Given the description of an element on the screen output the (x, y) to click on. 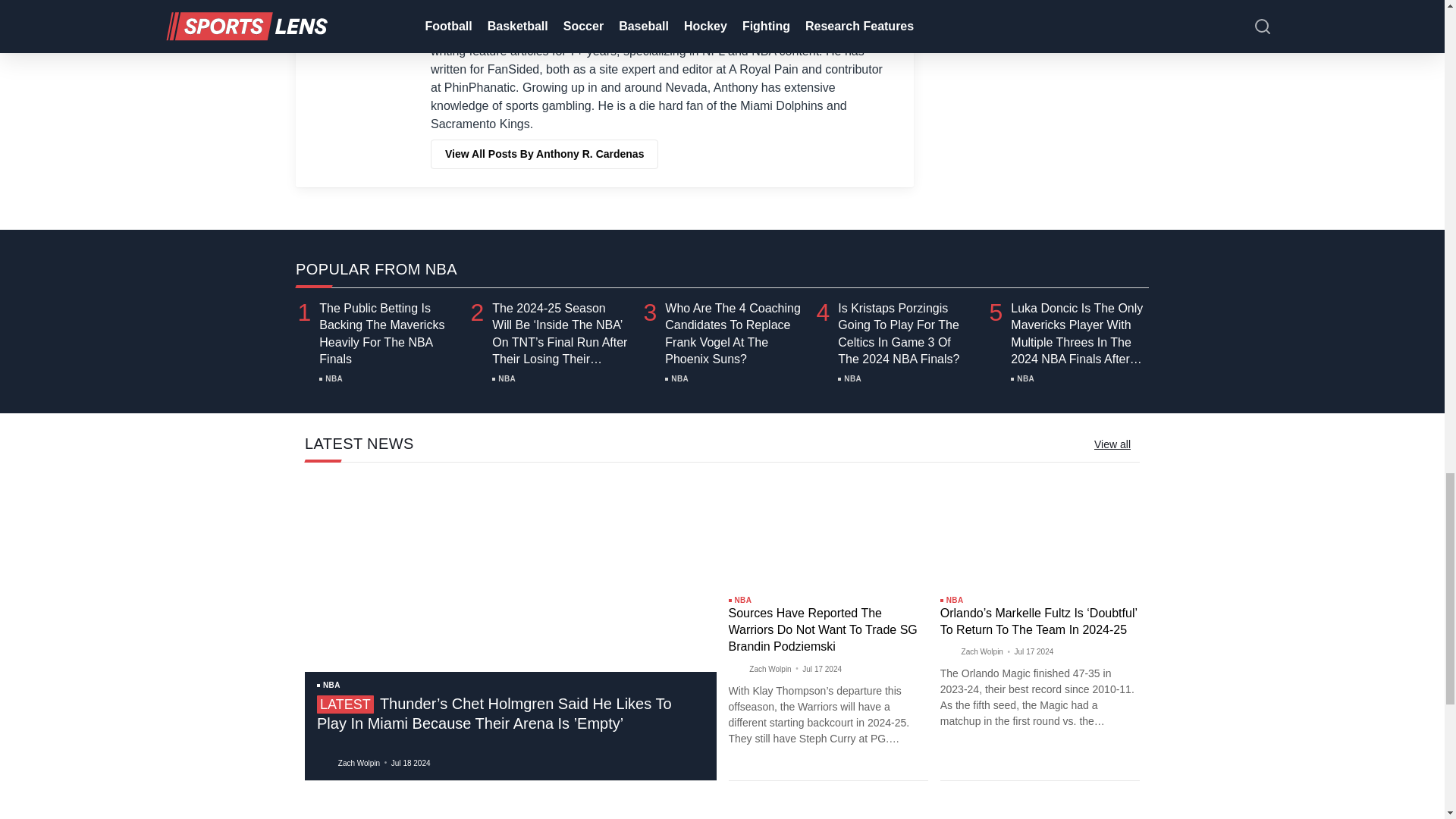
View All Posts By Anthony R. Cardenas (544, 153)
